Given the description of an element on the screen output the (x, y) to click on. 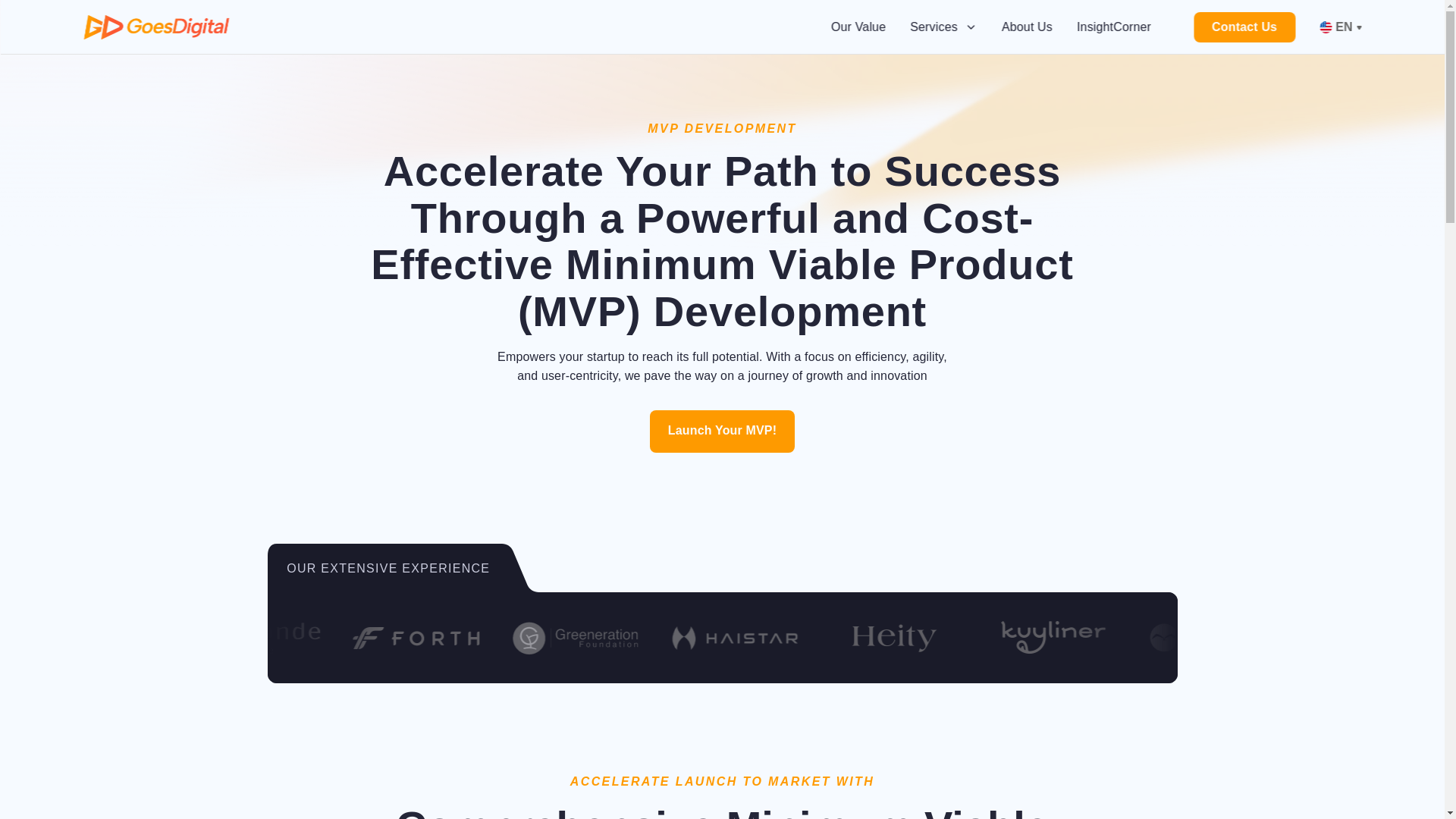
InsightCorner (1114, 26)
Contact Us (1244, 27)
Launch Your MVP! (721, 431)
Our Value (858, 26)
About Us (1026, 26)
